Given the description of an element on the screen output the (x, y) to click on. 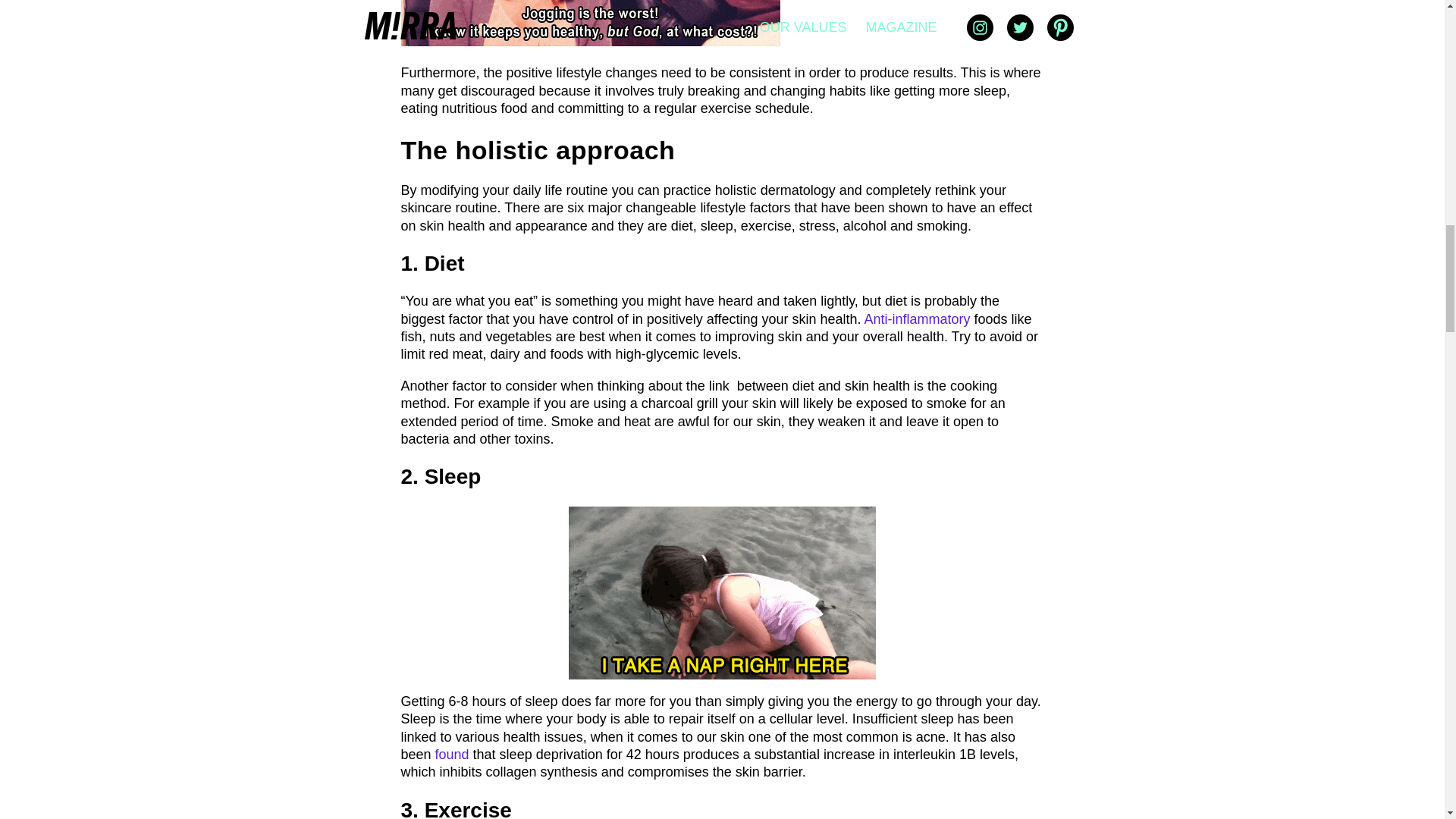
Anti-inflammatory (917, 319)
found (451, 754)
